Given the description of an element on the screen output the (x, y) to click on. 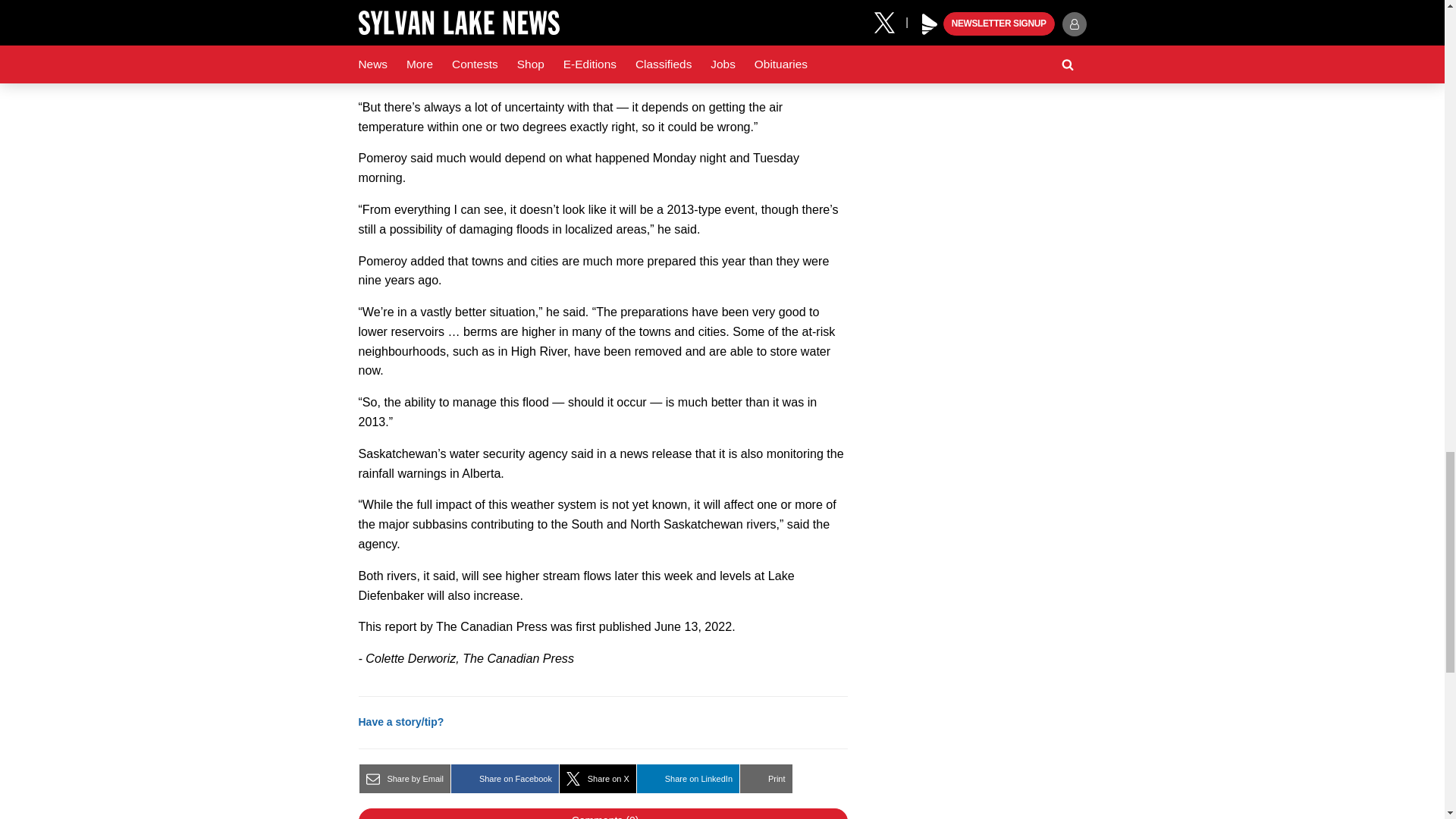
Show Comments (602, 813)
